Given the description of an element on the screen output the (x, y) to click on. 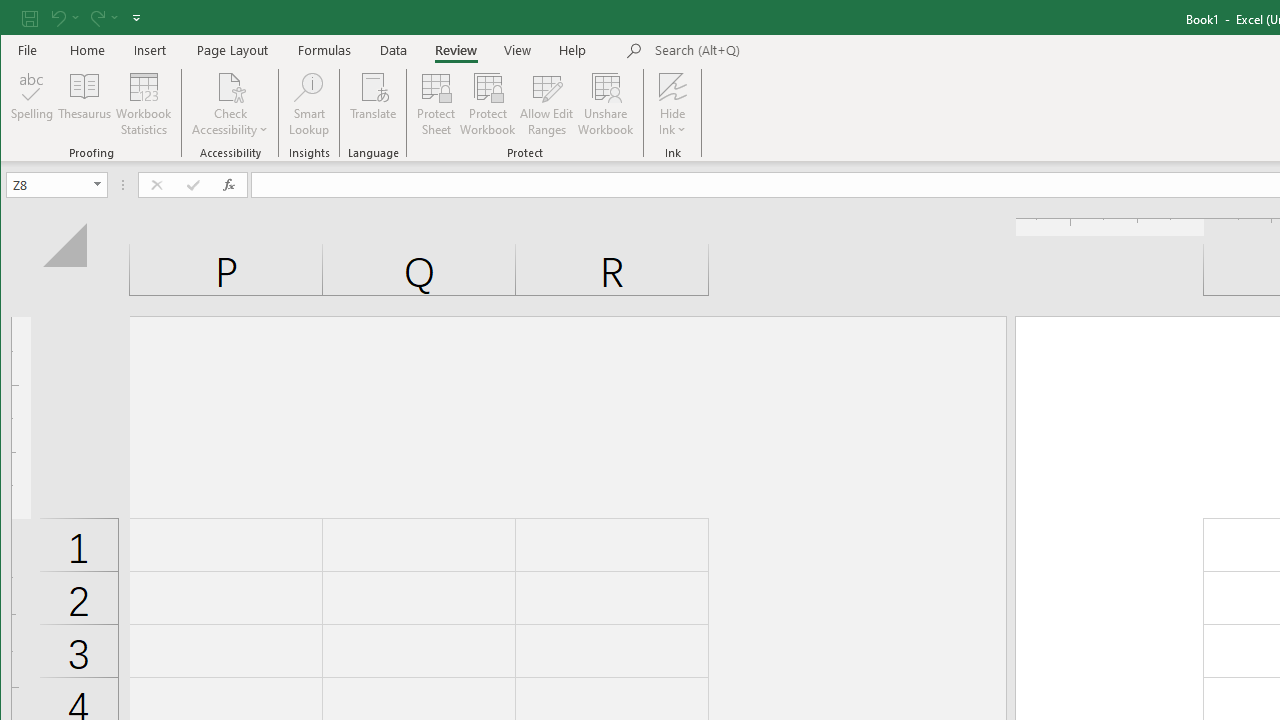
Workbook Statistics (143, 104)
Protect Sheet... (436, 104)
Unshare Workbook (606, 104)
Protect Workbook... (488, 104)
